Given the description of an element on the screen output the (x, y) to click on. 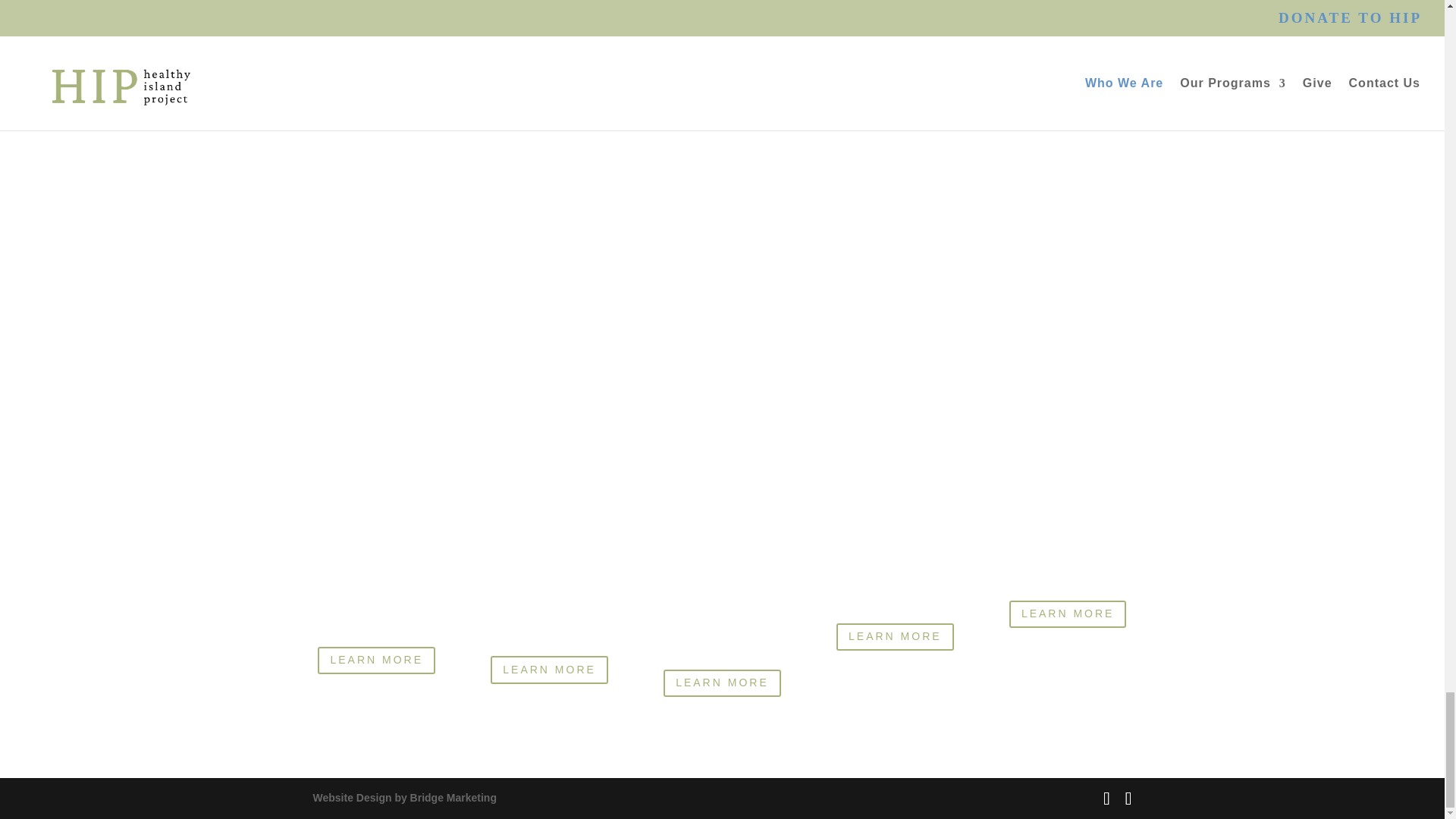
LEARN MORE (721, 682)
LEARN MORE (549, 669)
LEARN MORE (376, 660)
LEARN MORE (1067, 614)
LEARN MORE (894, 636)
